Given the description of an element on the screen output the (x, y) to click on. 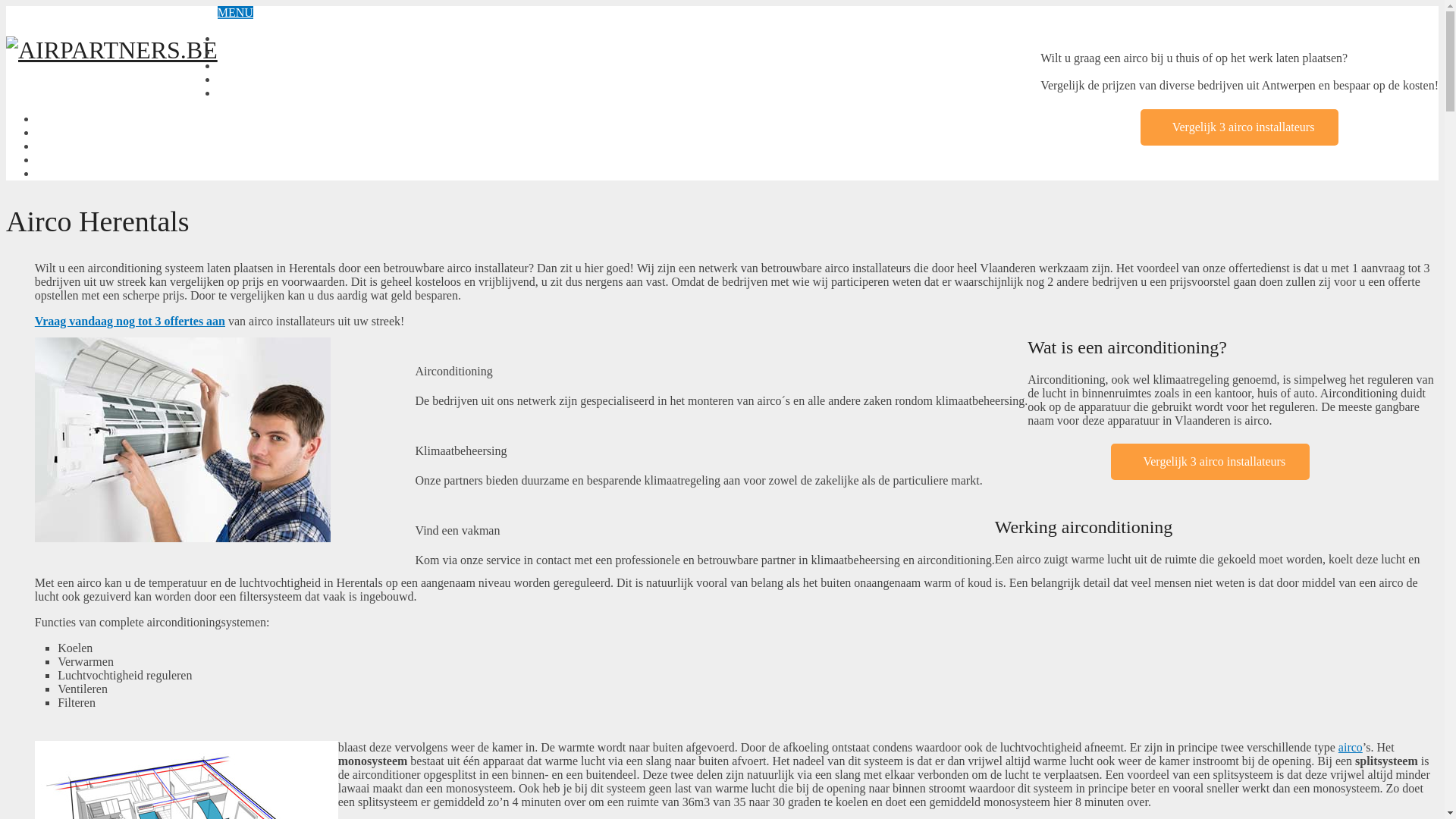
MENU Element type: text (235, 12)
GRATIS OFFERTES VERGELIJKEN! Element type: text (136, 172)
STARTPAGINA Element type: text (76, 118)
AIRCO MERKEN Element type: text (263, 51)
MOBIELE AIRCO Element type: text (83, 145)
BLOG Element type: text (52, 159)
AIRCO MERKEN Element type: text (82, 131)
GRATIS OFFERTES VERGELIJKEN! Element type: text (317, 92)
BLOG Element type: text (234, 78)
MOBIELE AIRCO Element type: text (264, 65)
Vergelijk 3 airco installateurs Element type: text (1209, 461)
STARTPAGINA Element type: text (257, 37)
Vraag vandaag nog tot 3 offertes aan Element type: text (129, 320)
airco Element type: text (1350, 746)
Vergelijk 3 airco installateurs Element type: text (1239, 127)
